Given the description of an element on the screen output the (x, y) to click on. 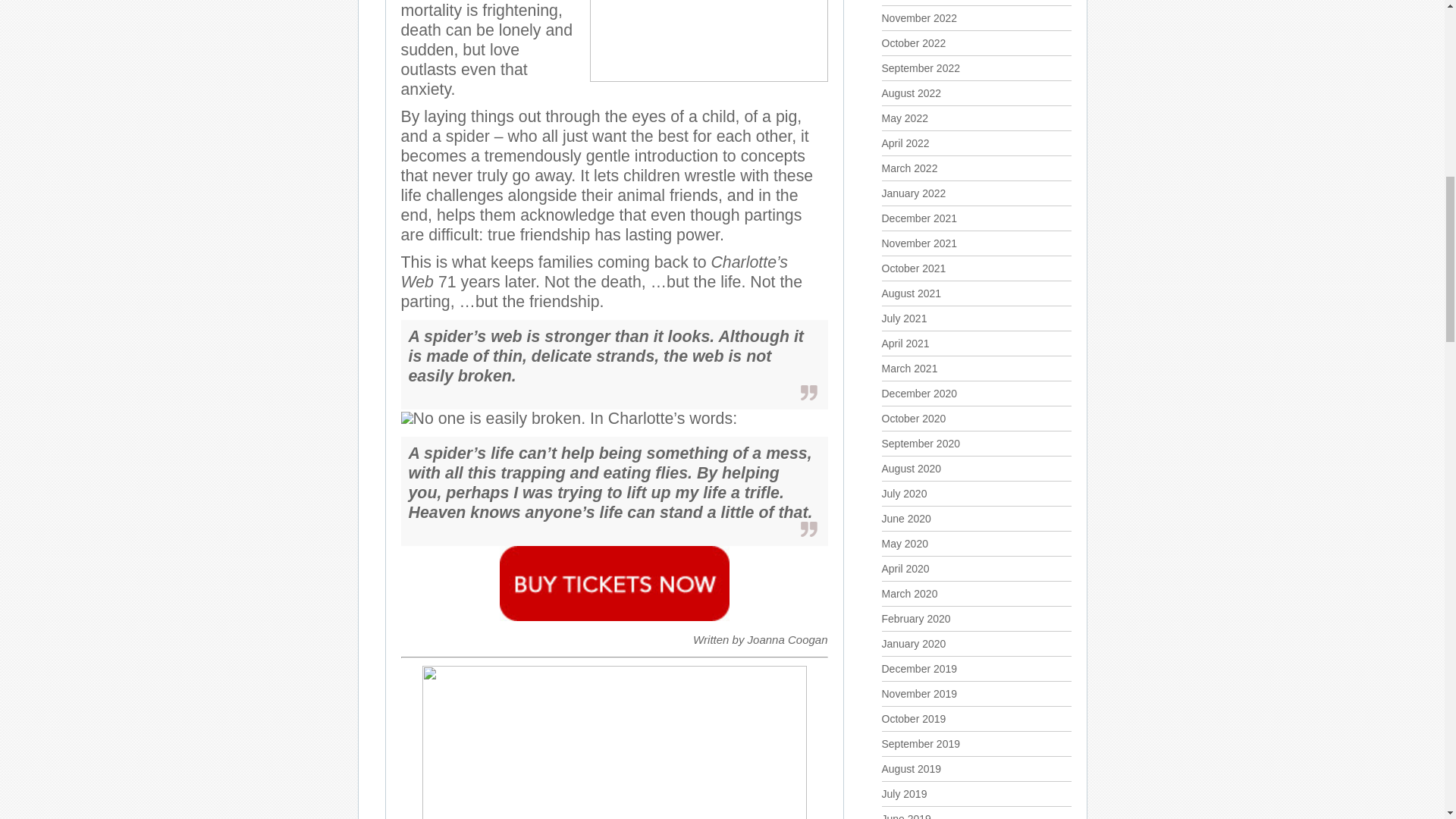
July 2021 (903, 318)
December 2021 (918, 218)
October 2020 (912, 418)
March 2022 (908, 168)
May 2022 (903, 118)
November 2021 (918, 243)
January 2022 (912, 193)
April 2021 (904, 343)
October 2022 (912, 42)
August 2021 (910, 293)
August 2020 (910, 468)
March 2021 (908, 368)
April 2022 (904, 143)
September 2020 (919, 443)
November 2022 (918, 18)
